Given the description of an element on the screen output the (x, y) to click on. 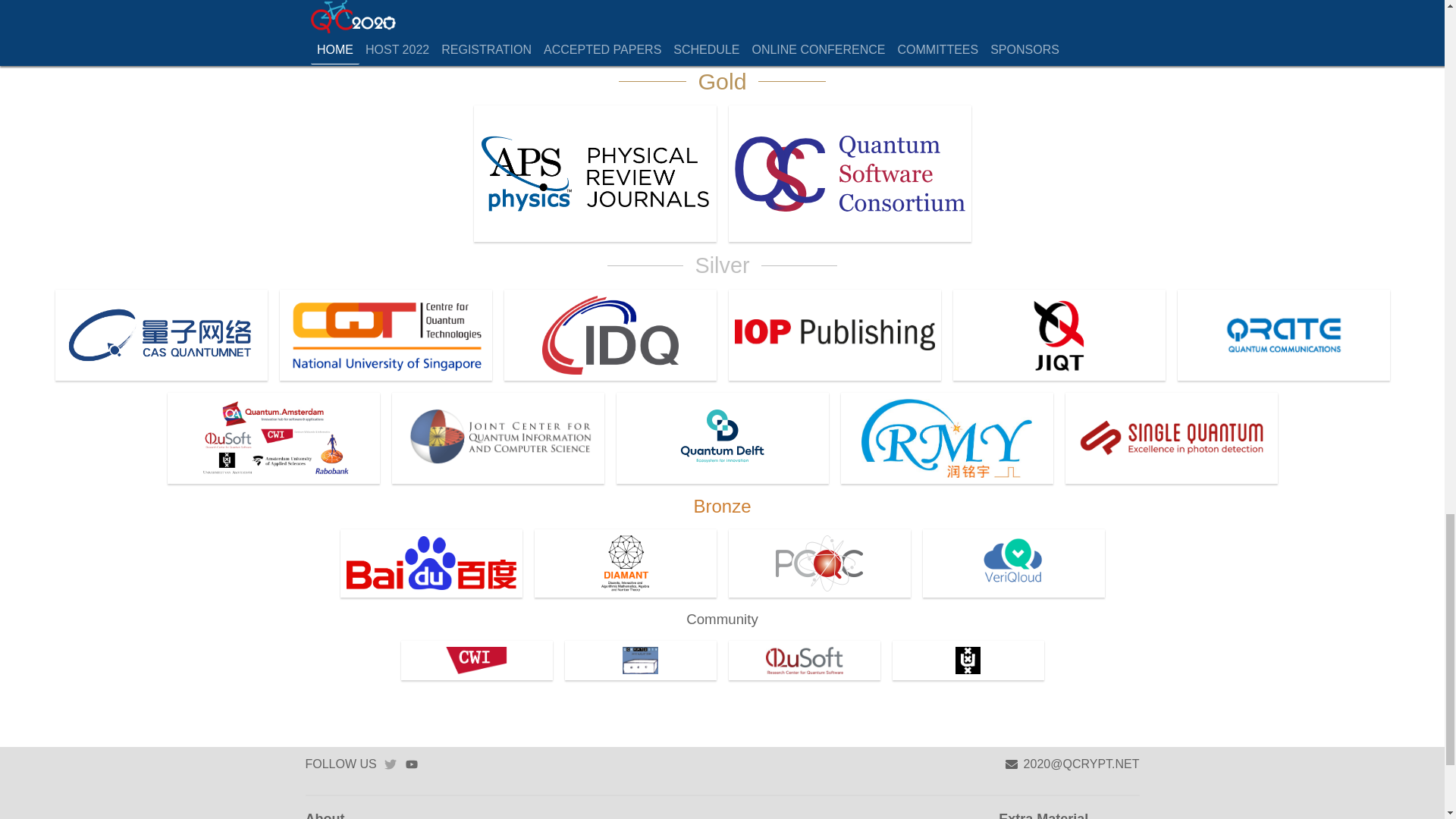
Single Quantum (1170, 438)
QuICS (497, 438)
VeriQloud (1012, 563)
Diamant (625, 563)
Baidu (430, 563)
VeriQloud (1012, 563)
American Physical Society (594, 173)
QRate (1282, 334)
CQT (385, 334)
Quantum.Amsterdam (272, 438)
